Given the description of an element on the screen output the (x, y) to click on. 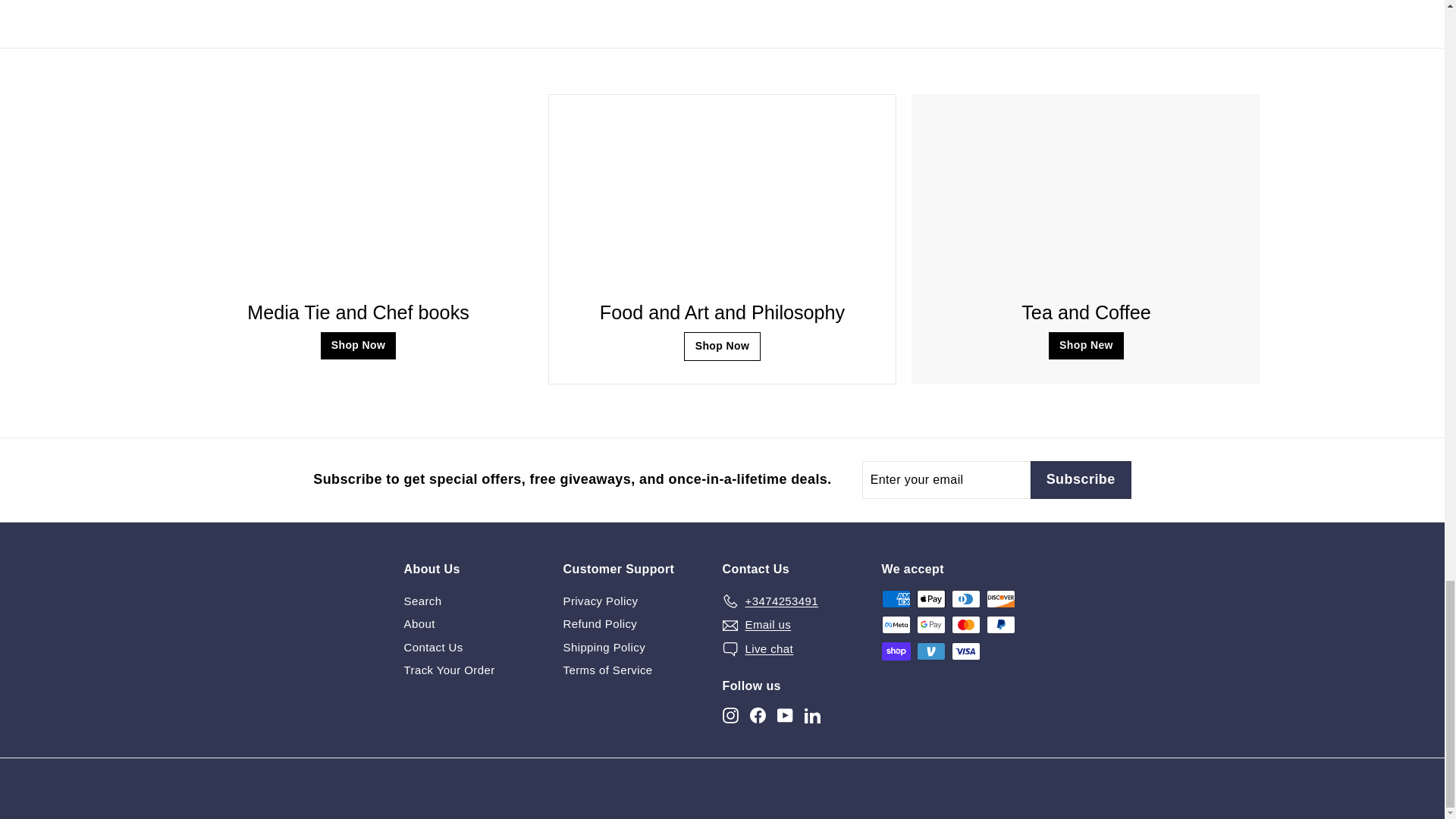
Google Pay (929, 624)
Discover (999, 598)
The Gourmet Bookstore on Facebook (757, 714)
American Express (895, 598)
Meta Pay (895, 624)
The Gourmet Bookstore on YouTube (784, 714)
Diners Club (964, 598)
The Gourmet Bookstore on LinkedIn (811, 714)
Apple Pay (929, 598)
The Gourmet Bookstore on Instagram (730, 714)
